Given the description of an element on the screen output the (x, y) to click on. 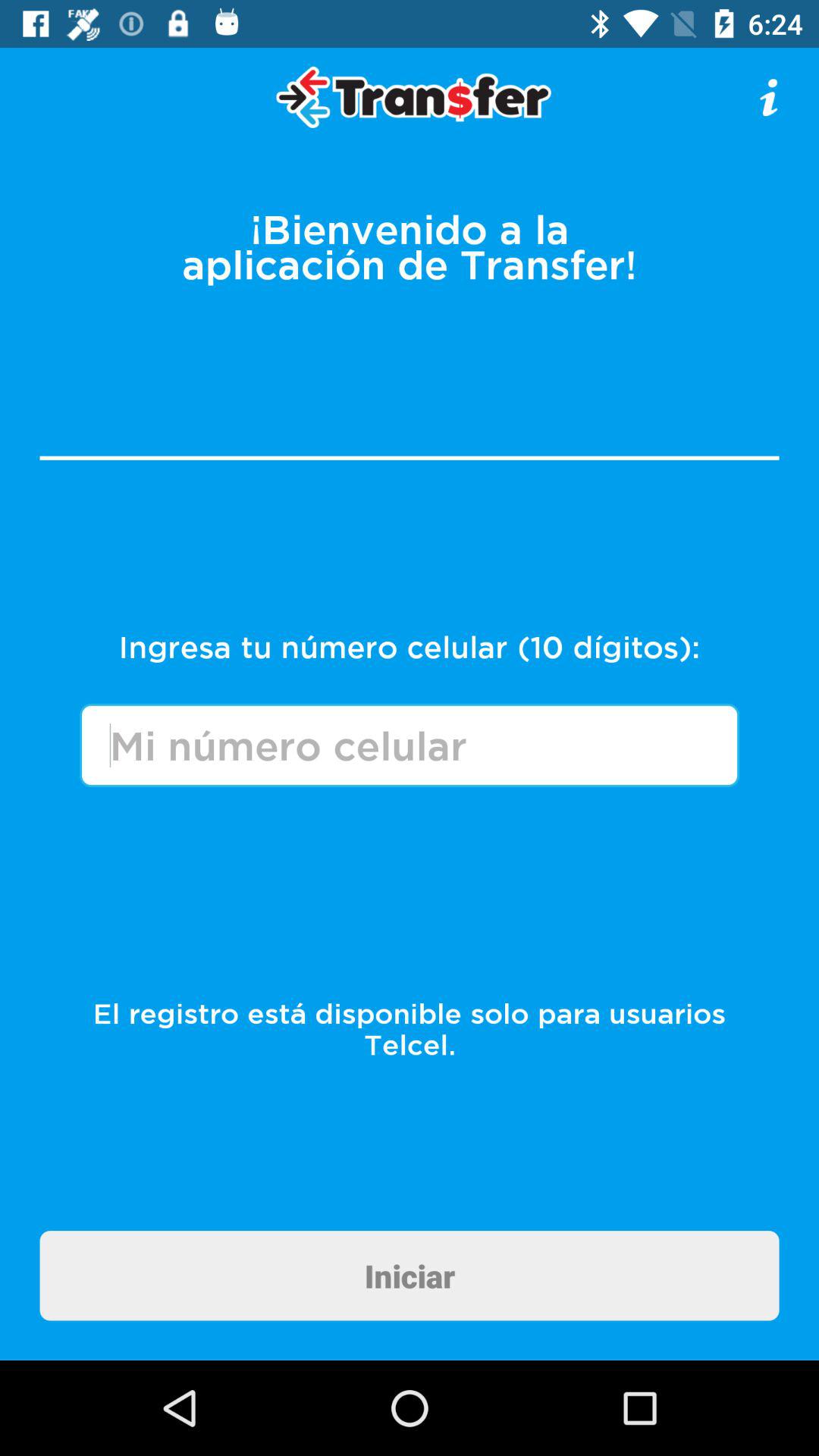
text field for your cell phone number (409, 745)
